Given the description of an element on the screen output the (x, y) to click on. 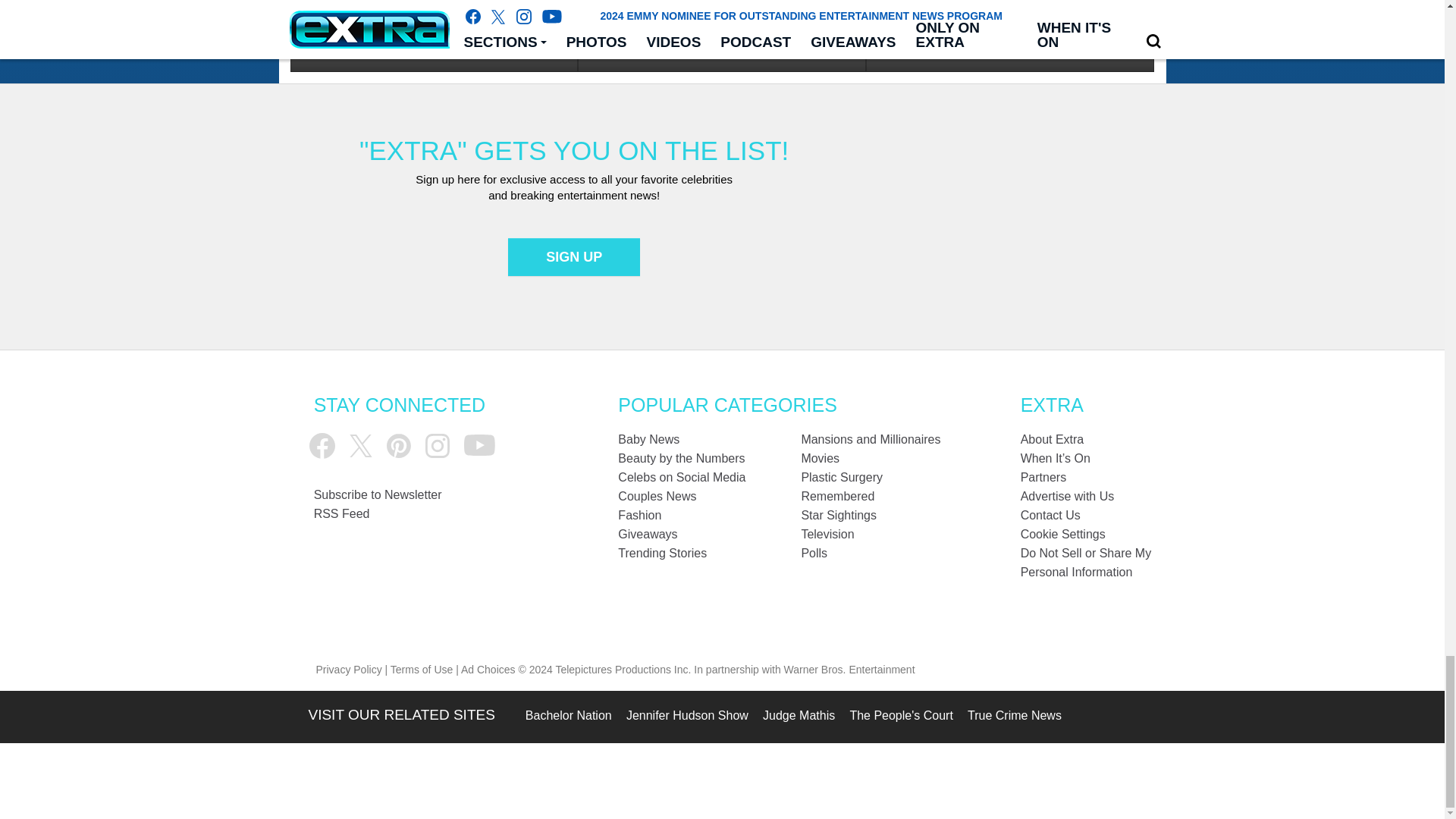
YouTube (479, 445)
Instagram (437, 445)
Pinterest (398, 445)
Facebook (321, 445)
Twitter (360, 445)
